Given the description of an element on the screen output the (x, y) to click on. 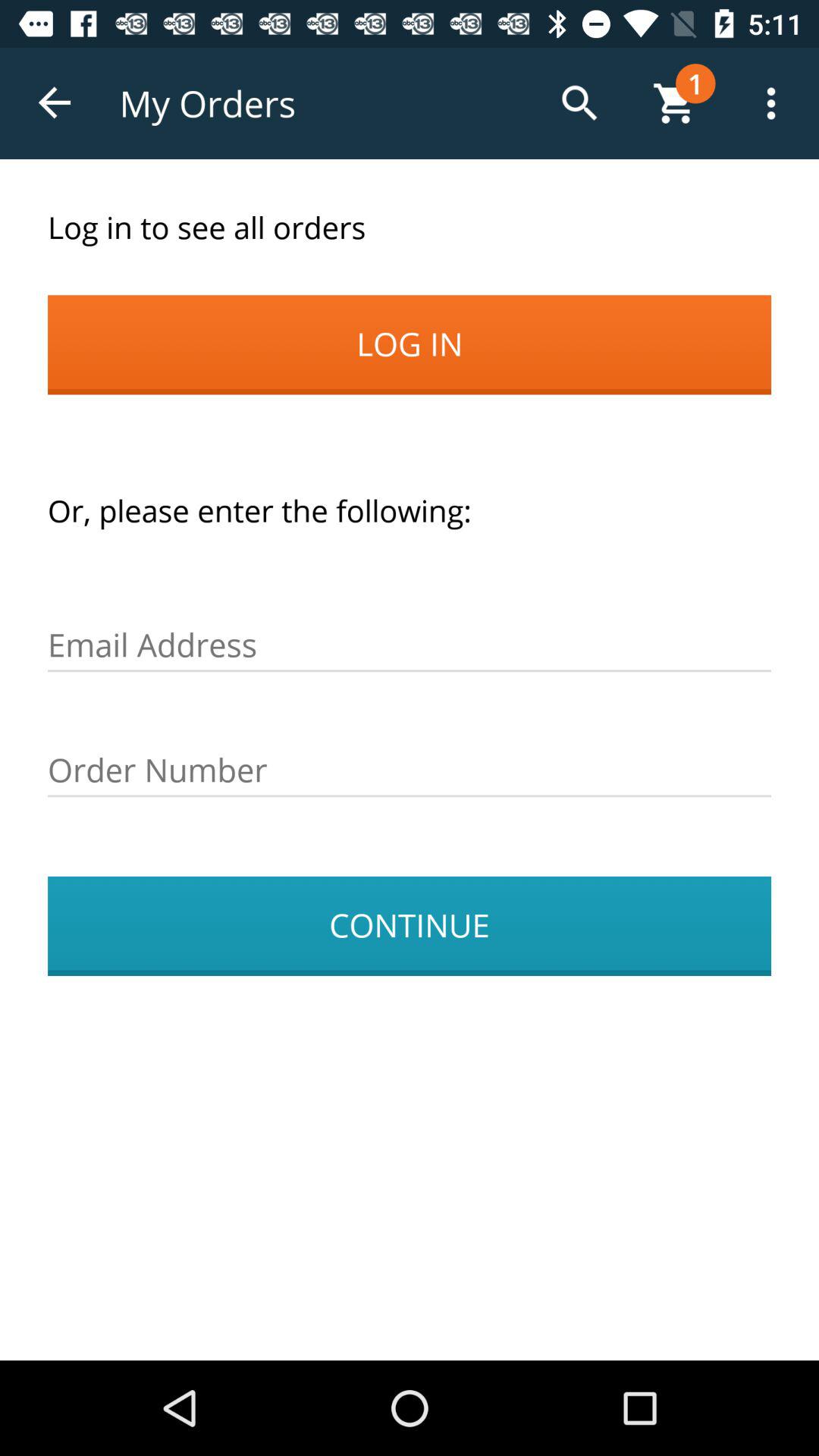
put your email address (409, 645)
